Given the description of an element on the screen output the (x, y) to click on. 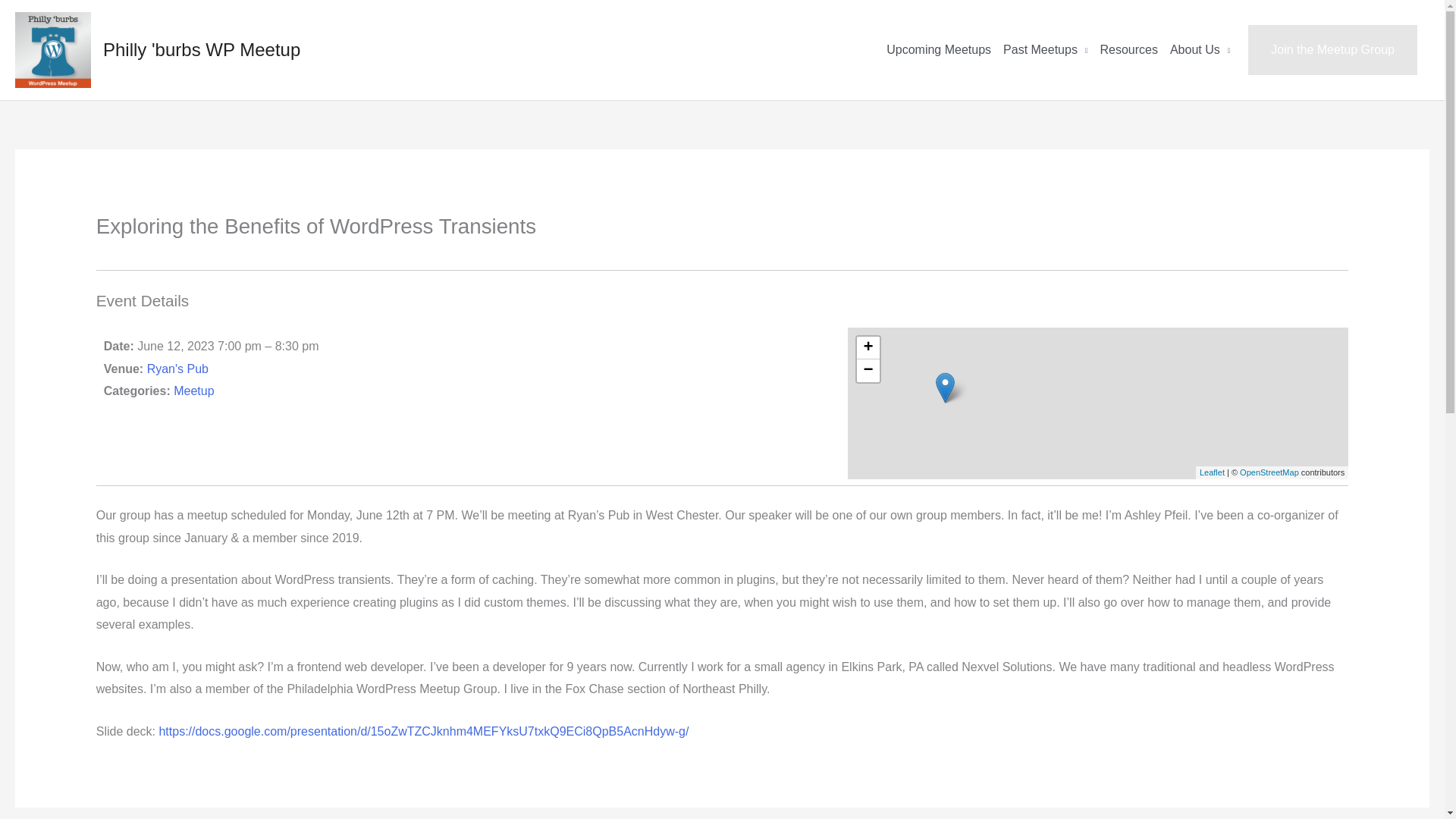
OpenStreetMap (1269, 471)
Leaflet (1211, 471)
Join the Meetup Group (1331, 50)
Zoom in (868, 347)
Philly 'burbs WP Meetup (201, 49)
Meetup (193, 390)
Upcoming Meetups (938, 49)
Zoom out (868, 370)
Ryan's Pub (177, 368)
A JS library for interactive maps (1211, 471)
